Given the description of an element on the screen output the (x, y) to click on. 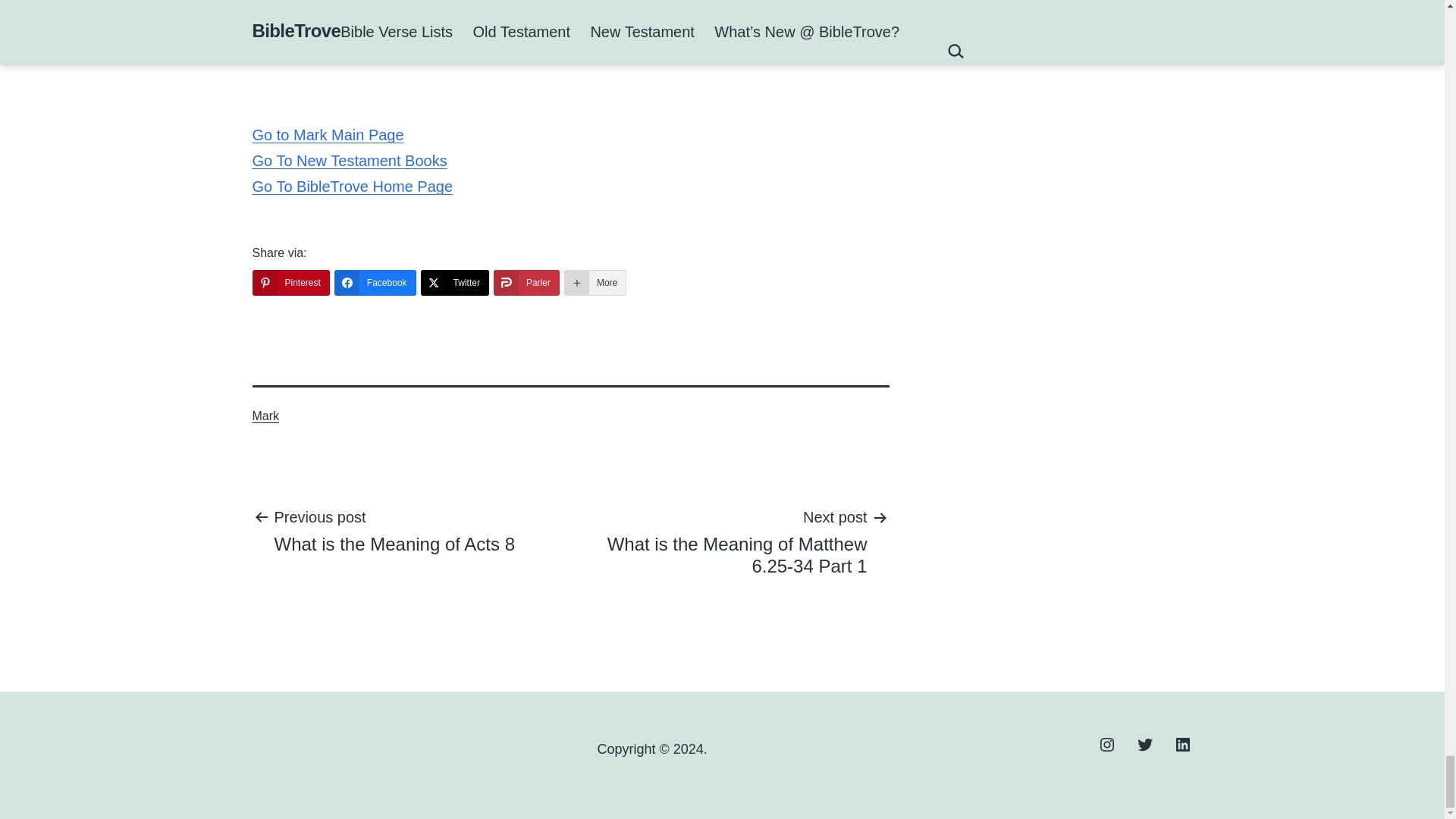
Parler (526, 282)
Instagram (394, 530)
Go to Mark Main Page (1106, 742)
LinkedIn (327, 134)
Go To New Testament Books (1182, 742)
Pinterest (348, 160)
Twitter (290, 282)
Twitter (1144, 742)
Facebook (454, 282)
More (375, 282)
Mark (733, 541)
Go To BibleTrove Home Page (595, 282)
